Given the description of an element on the screen output the (x, y) to click on. 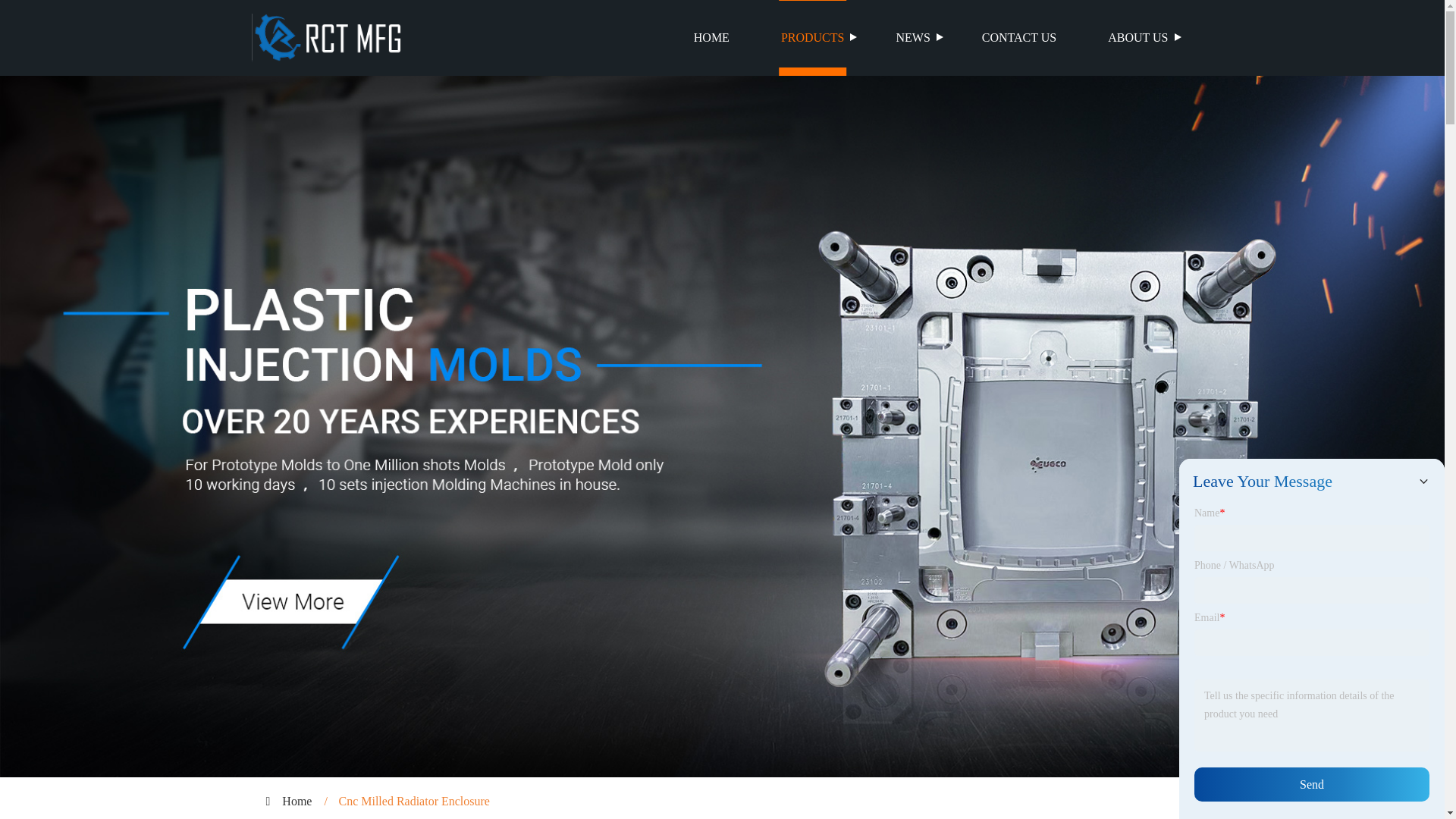
PRODUCTS (812, 38)
Home (296, 800)
CONTACT US (1018, 38)
